Given the description of an element on the screen output the (x, y) to click on. 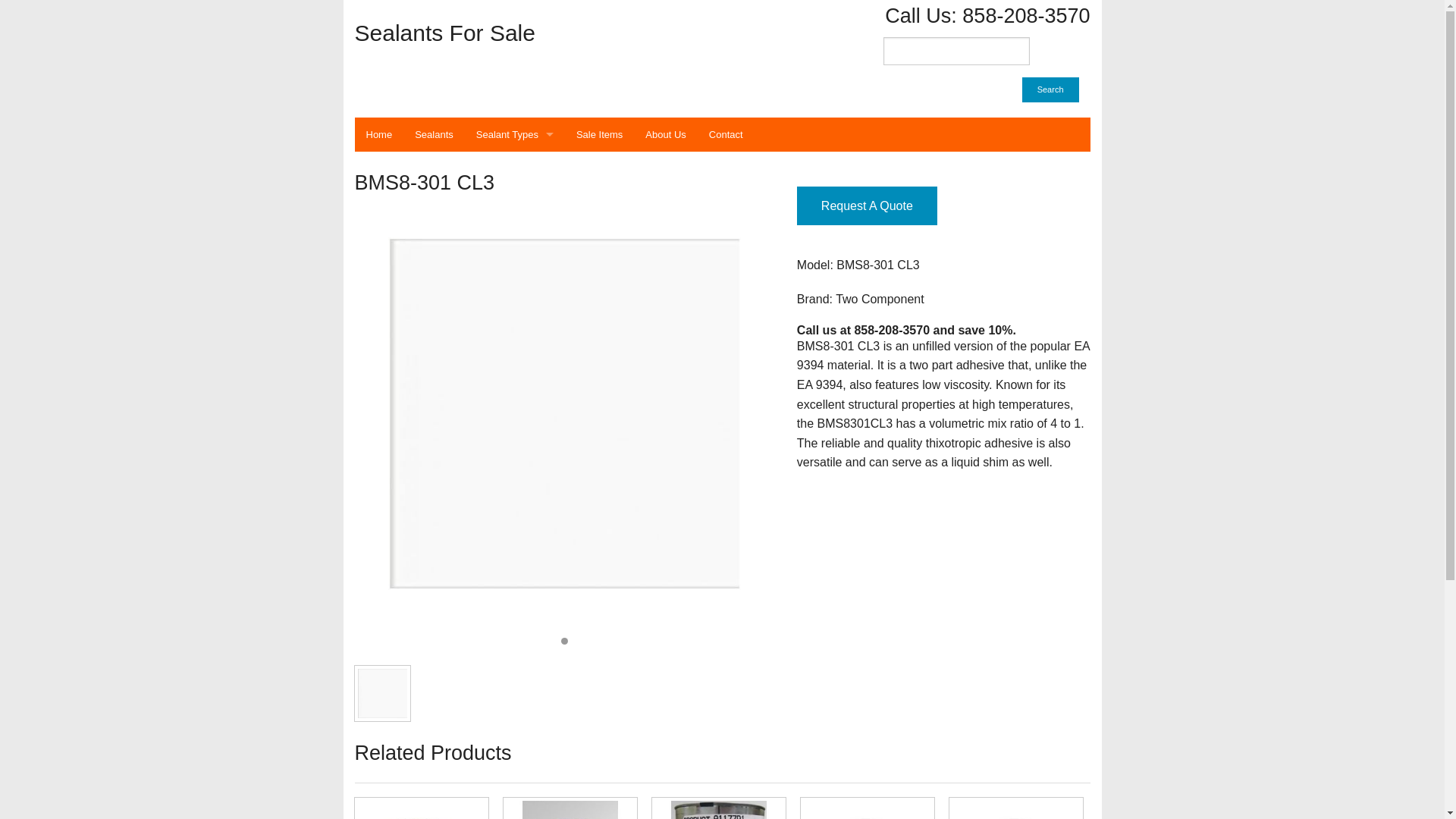
Sealants For Sale (533, 33)
About Us (665, 134)
Search (1050, 89)
Sealant Types (514, 134)
Search (1050, 89)
Sale Items (598, 134)
search (956, 50)
Home (379, 134)
Request A Quote (866, 205)
Sealants (433, 134)
